Given the description of an element on the screen output the (x, y) to click on. 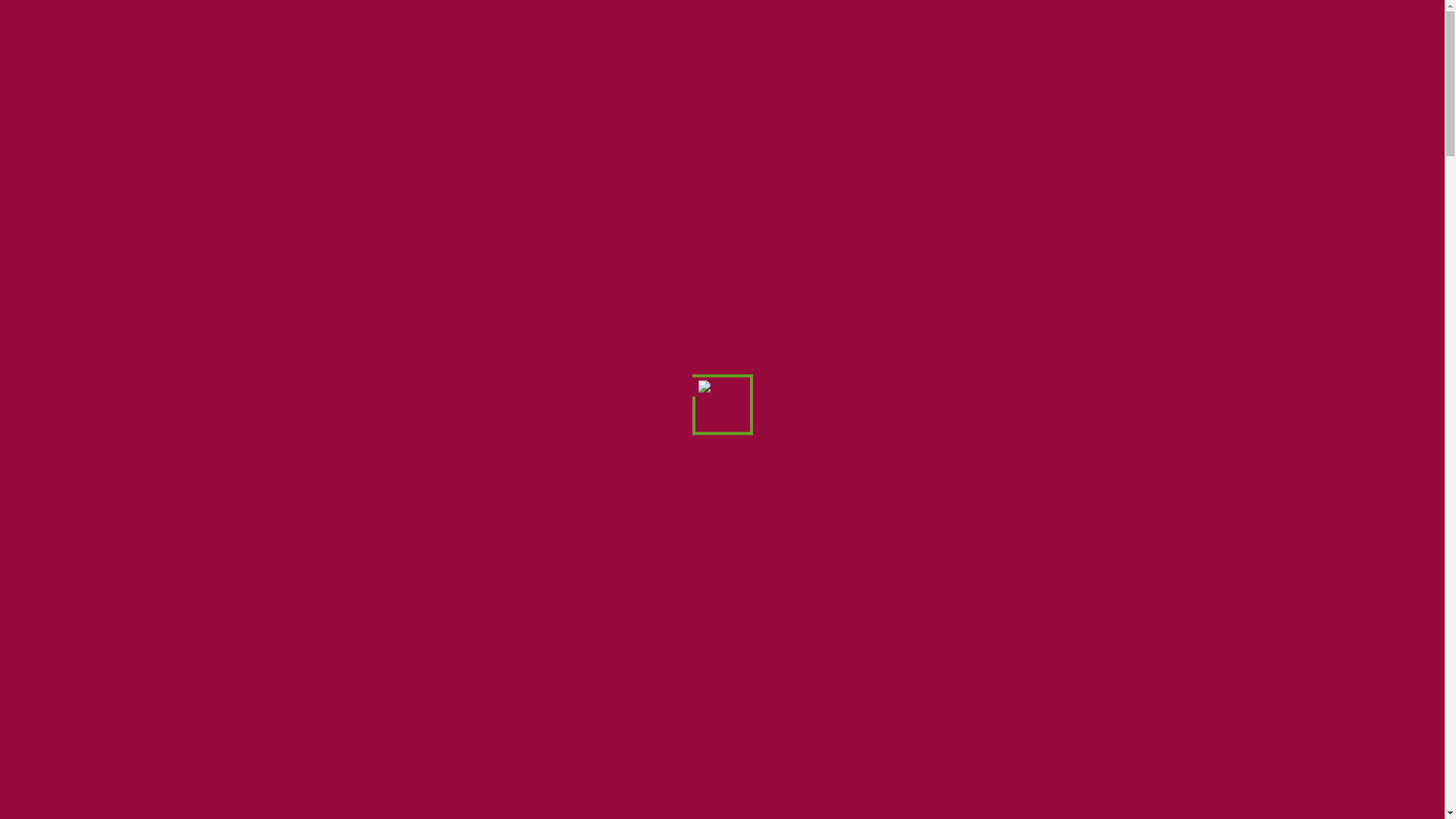
https://2afinition.com Element type: text (387, 269)
NOTRE HISTOIRE Element type: text (707, 42)
SAVOIR-FAIRE Element type: text (837, 42)
https://2afinition.com Element type: text (671, 806)
https://2afinition.com Element type: text (410, 465)
https://2afinition.com Element type: text (387, 788)
CONTACT Element type: text (1099, 42)
https://2afinition.com Element type: text (465, 705)
ACCUEIL Element type: text (596, 42)
https://2afinition.com Element type: text (495, 194)
https://2afinition.com Element type: text (879, 722)
https://2afinition.com Element type: text (390, 806)
